Given the description of an element on the screen output the (x, y) to click on. 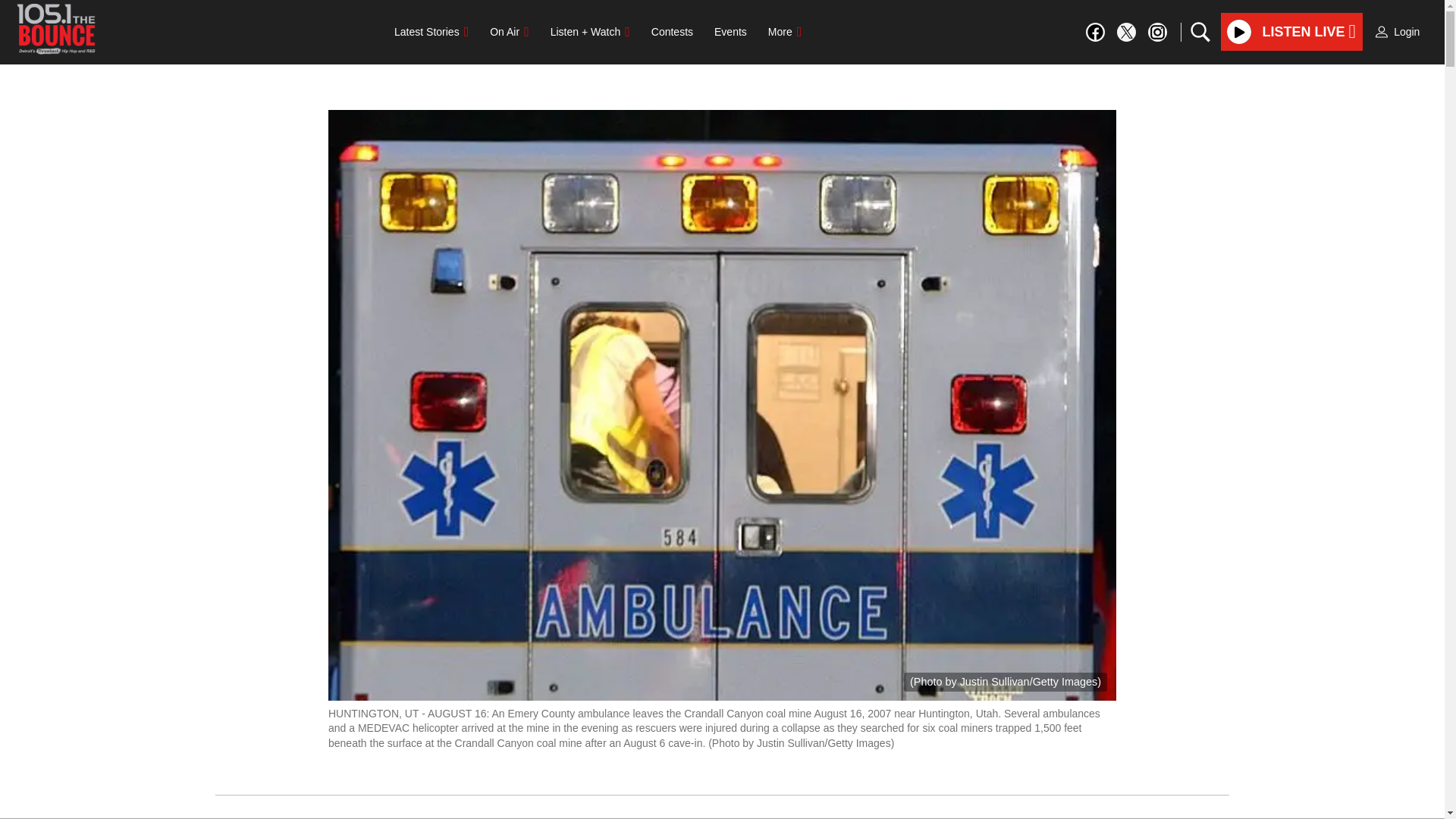
Contests (671, 31)
On Air (508, 31)
Events (730, 31)
Latest Stories (431, 31)
More (784, 31)
